Given the description of an element on the screen output the (x, y) to click on. 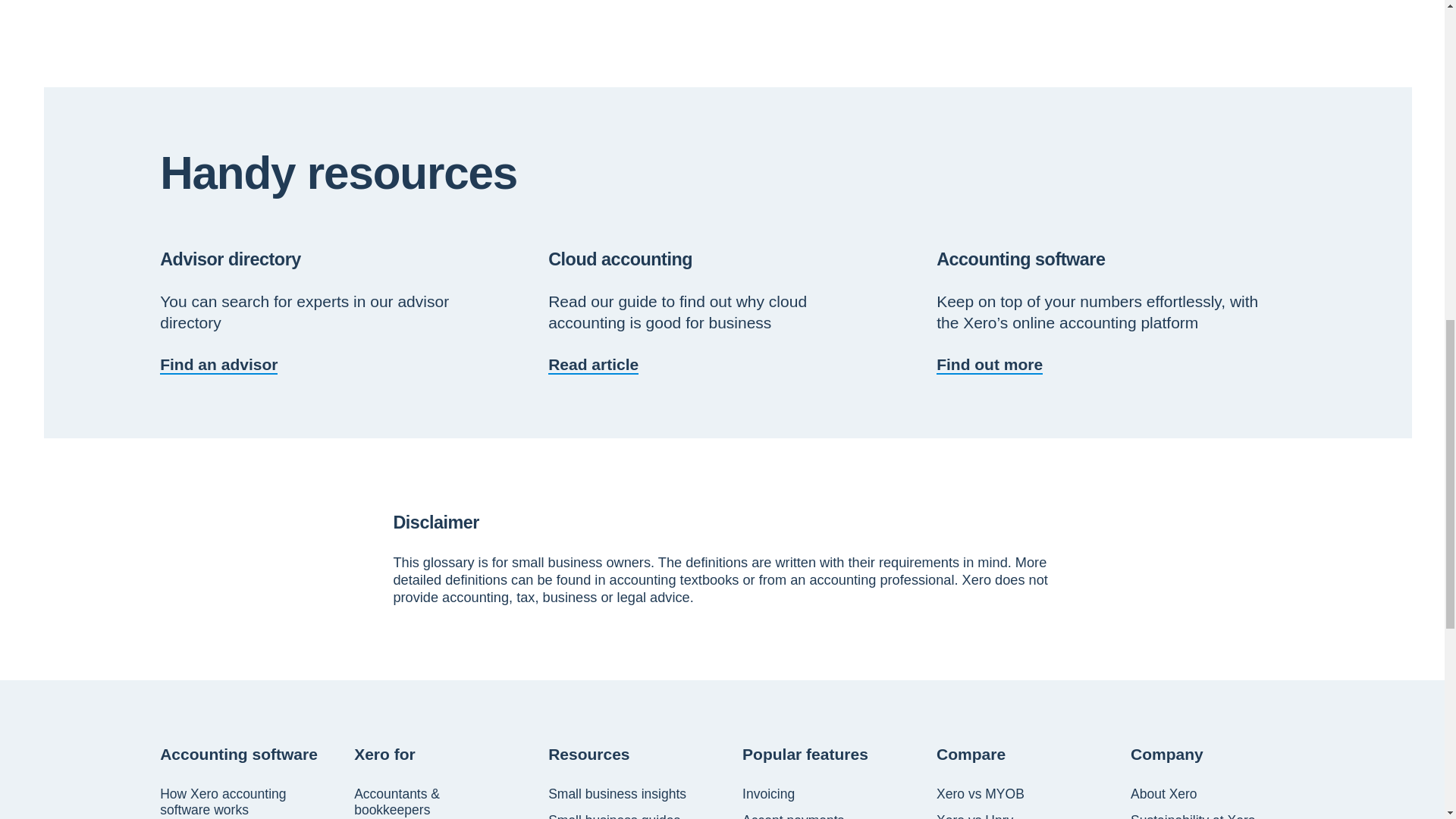
Find out more (989, 364)
Find an advisor (219, 364)
How Xero accounting software works (242, 802)
Small business insights (616, 794)
Read article (593, 364)
Small business guides (613, 816)
